Given the description of an element on the screen output the (x, y) to click on. 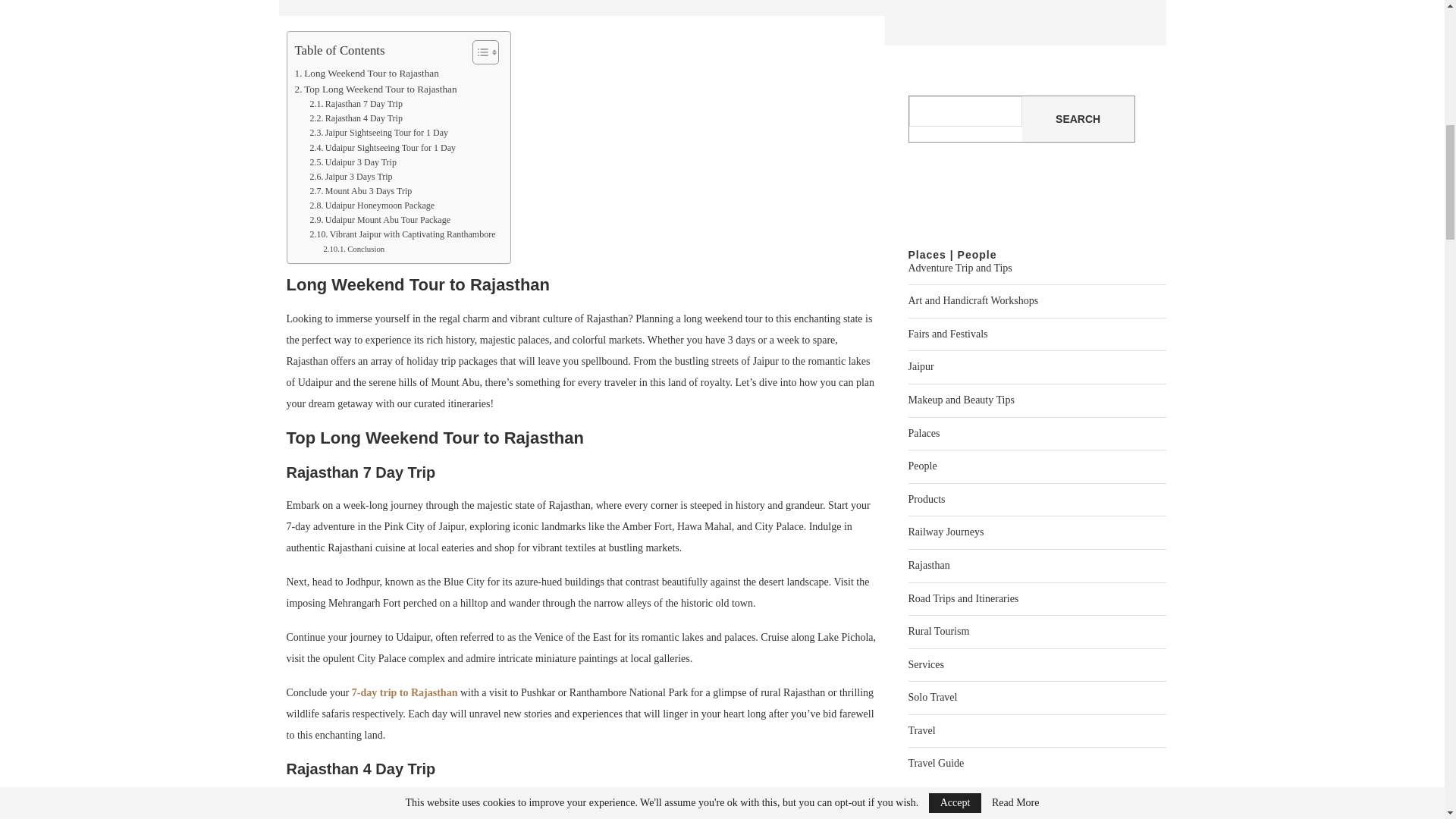
Vibrant Jaipur with Captivating Ranthambore (401, 234)
Top Long Weekend Tour to Rajasthan (375, 89)
Udaipur Honeymoon Package (370, 205)
Udaipur Sightseeing Tour for 1 Day (381, 147)
Udaipur 3 Day Trip (352, 162)
Long Weekend Tour to Rajasthan (366, 73)
Udaipur Mount Abu Tour Package (378, 219)
Udaipur Honeymoon Package (370, 205)
Jaipur 3 Days Trip (349, 176)
Rajasthan 7 Day Trip (354, 104)
